Given the description of an element on the screen output the (x, y) to click on. 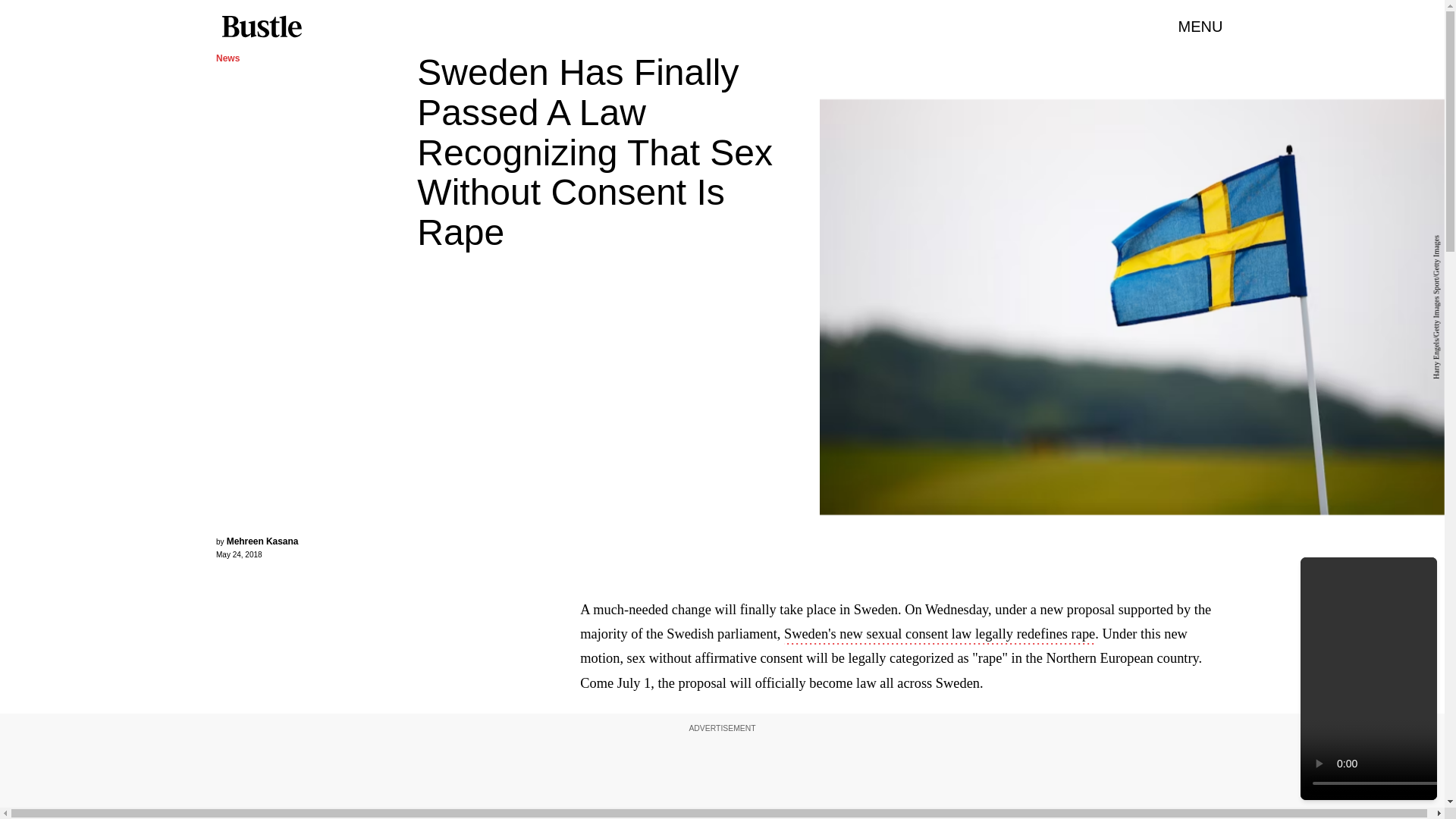
Mehreen Kasana (262, 541)
Bustle (261, 26)
Sweden's new sexual consent law legally redefines rape (939, 635)
